Given the description of an element on the screen output the (x, y) to click on. 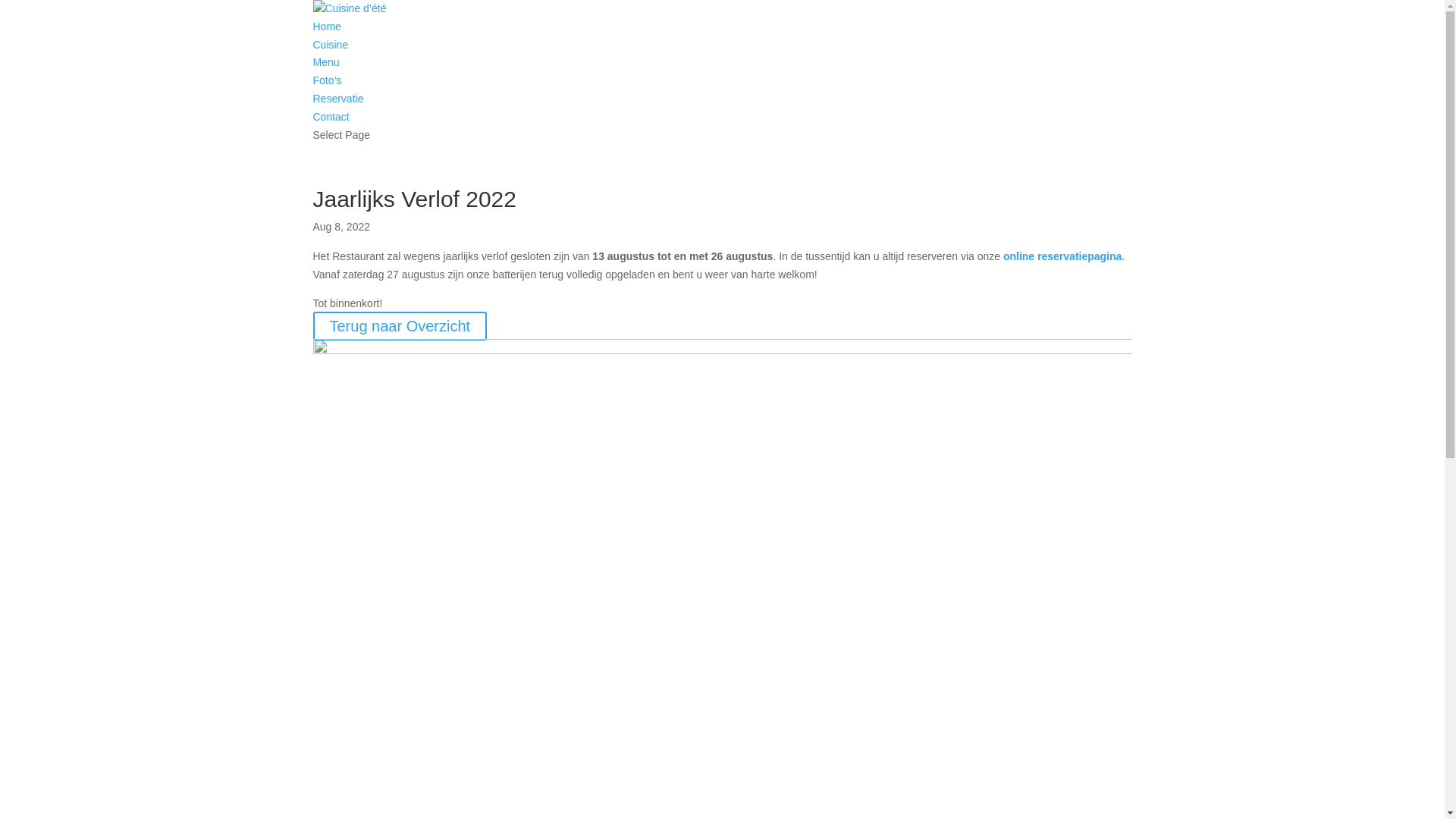
online reservatiepagina Element type: text (1062, 256)
Home Element type: text (326, 26)
Terug naar Overzicht Element type: text (399, 325)
Cuisine Element type: text (330, 44)
Contact Element type: text (330, 116)
Reservatie Element type: text (337, 98)
Menu Element type: text (325, 62)
